Given the description of an element on the screen output the (x, y) to click on. 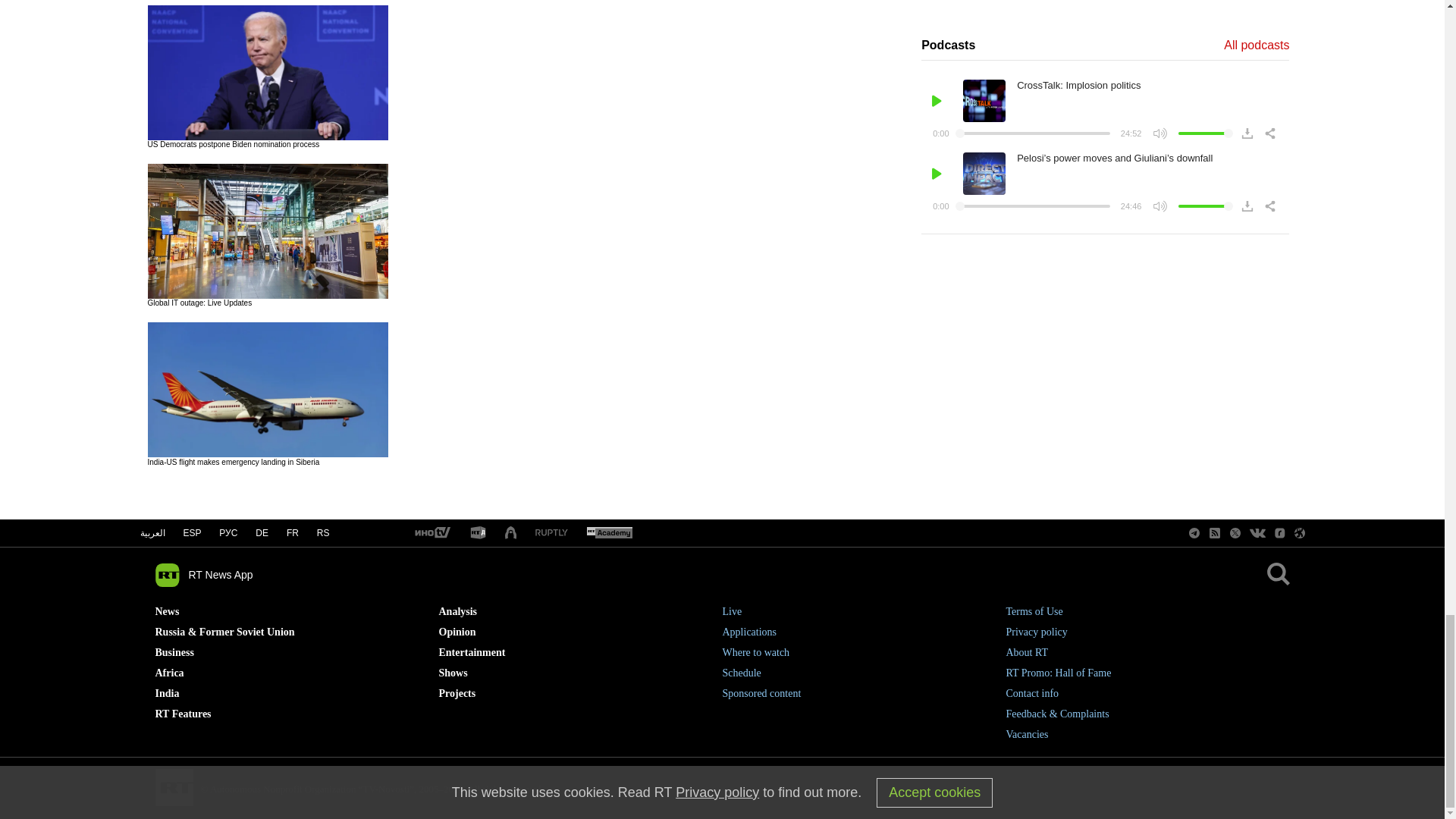
RT  (551, 533)
RT  (431, 533)
RT  (608, 533)
RT  (510, 533)
RT  (478, 533)
